Given the description of an element on the screen output the (x, y) to click on. 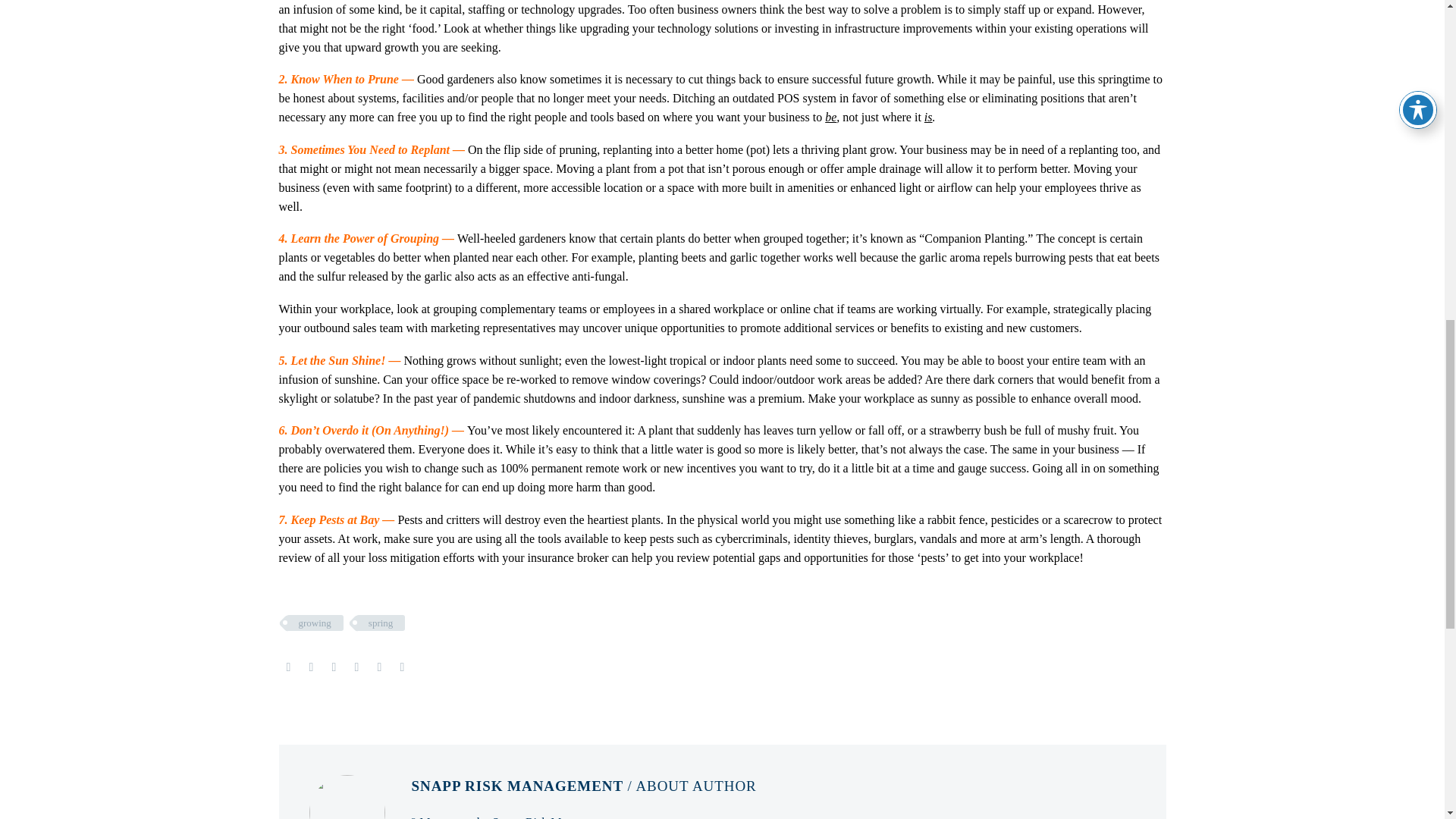
Reddit (401, 666)
Twitter (310, 666)
LinkedIn (378, 666)
Tumblr (356, 666)
Facebook (288, 666)
Pinterest (333, 666)
